Given the description of an element on the screen output the (x, y) to click on. 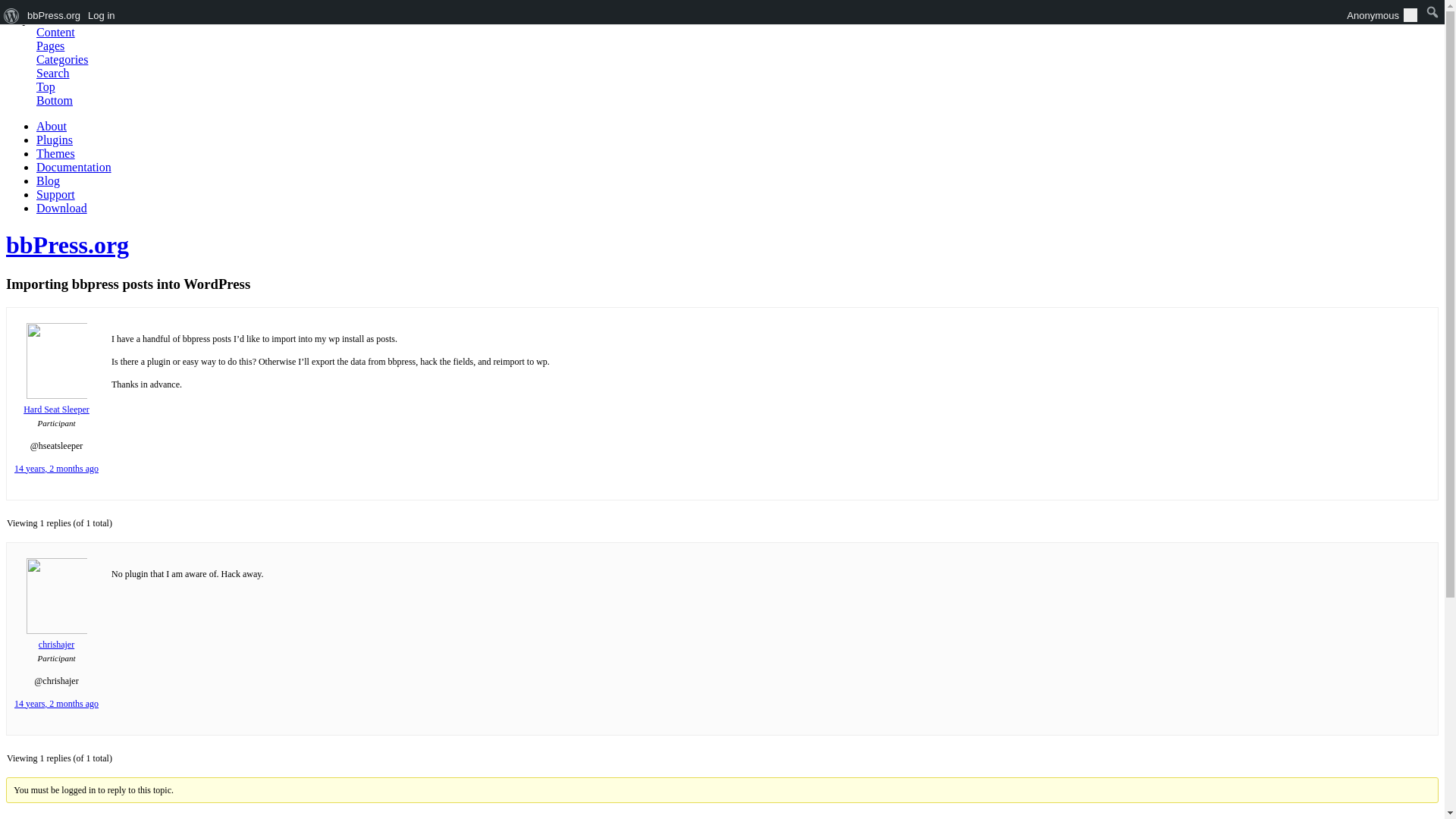
chrishajer (56, 638)
Blog (47, 180)
14 years, 2 months ago (56, 468)
Content (55, 31)
Pages (50, 45)
About (51, 125)
Top (45, 86)
Themes (55, 153)
Bottom (54, 100)
Support (55, 194)
